Given the description of an element on the screen output the (x, y) to click on. 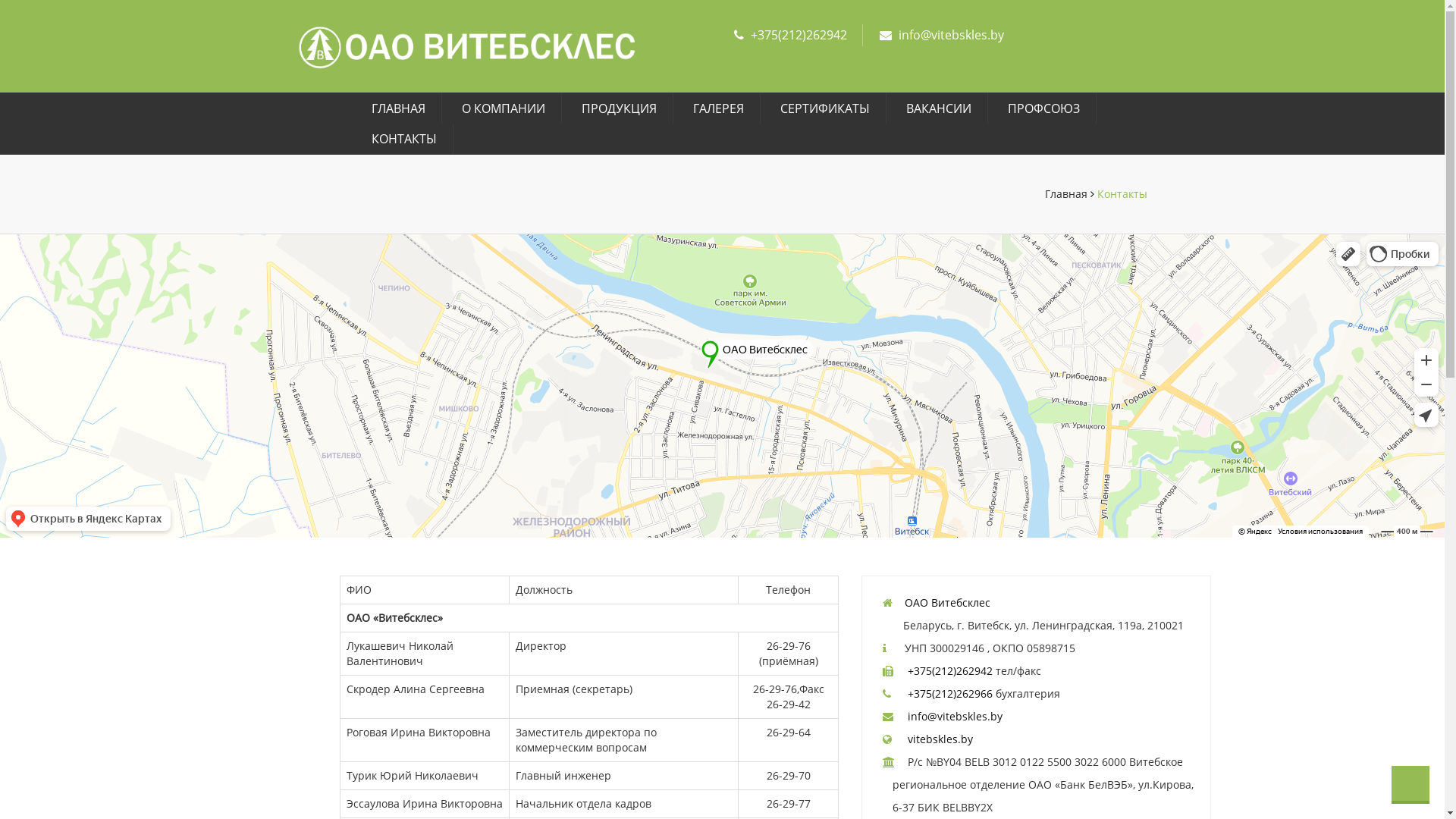
info@vitebskles.by Element type: text (954, 716)
vitebskles.by Element type: text (939, 738)
+375(212)262942 Element type: text (949, 670)
+375(212)262966 Element type: text (949, 693)
+375(212)262942 Element type: text (798, 34)
info@vitebskles.by Element type: text (950, 34)
